Given the description of an element on the screen output the (x, y) to click on. 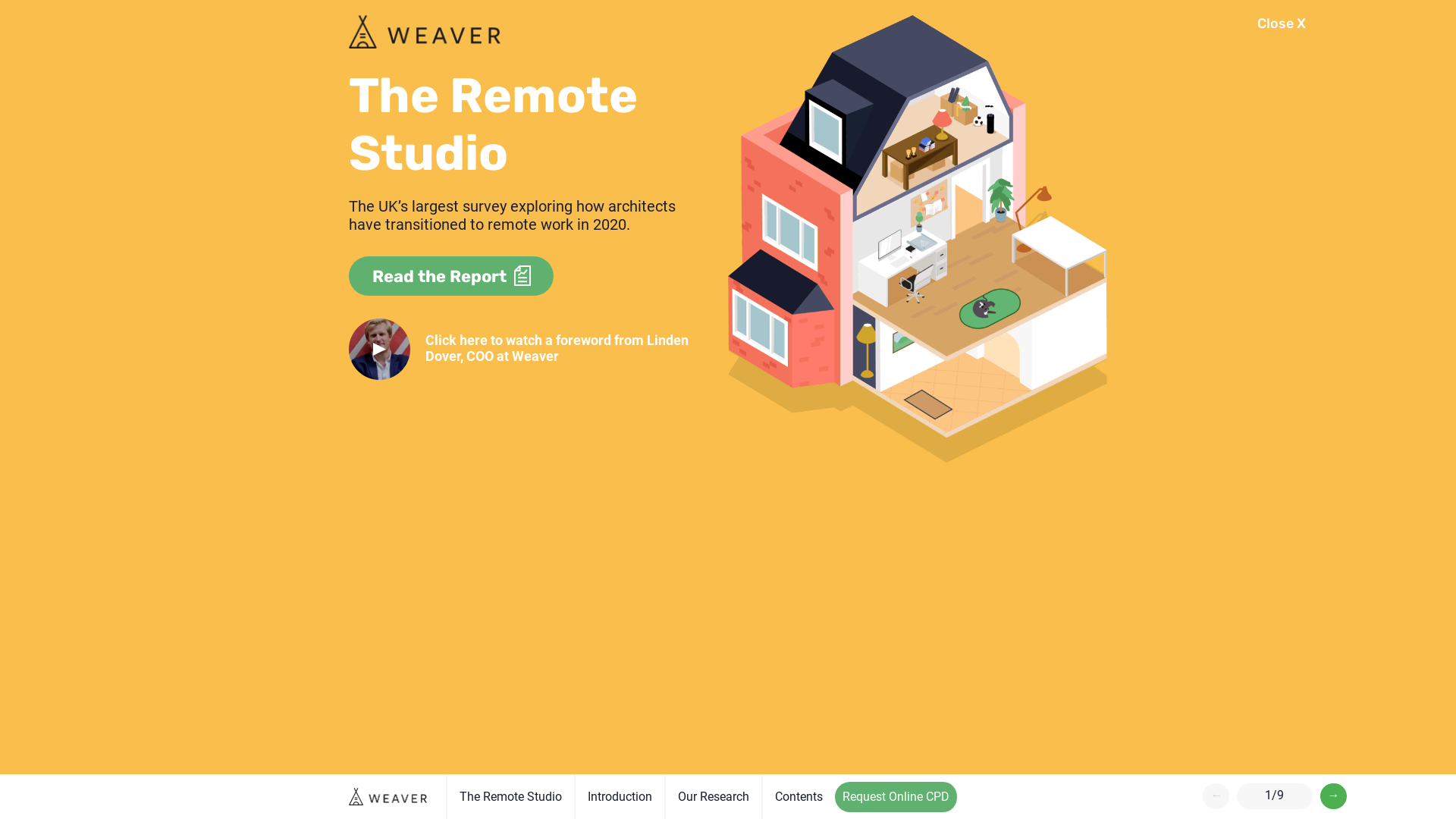
Request Online CPD Element type: text (896, 796)
Read the Report Element type: text (440, 276)
